Given the description of an element on the screen output the (x, y) to click on. 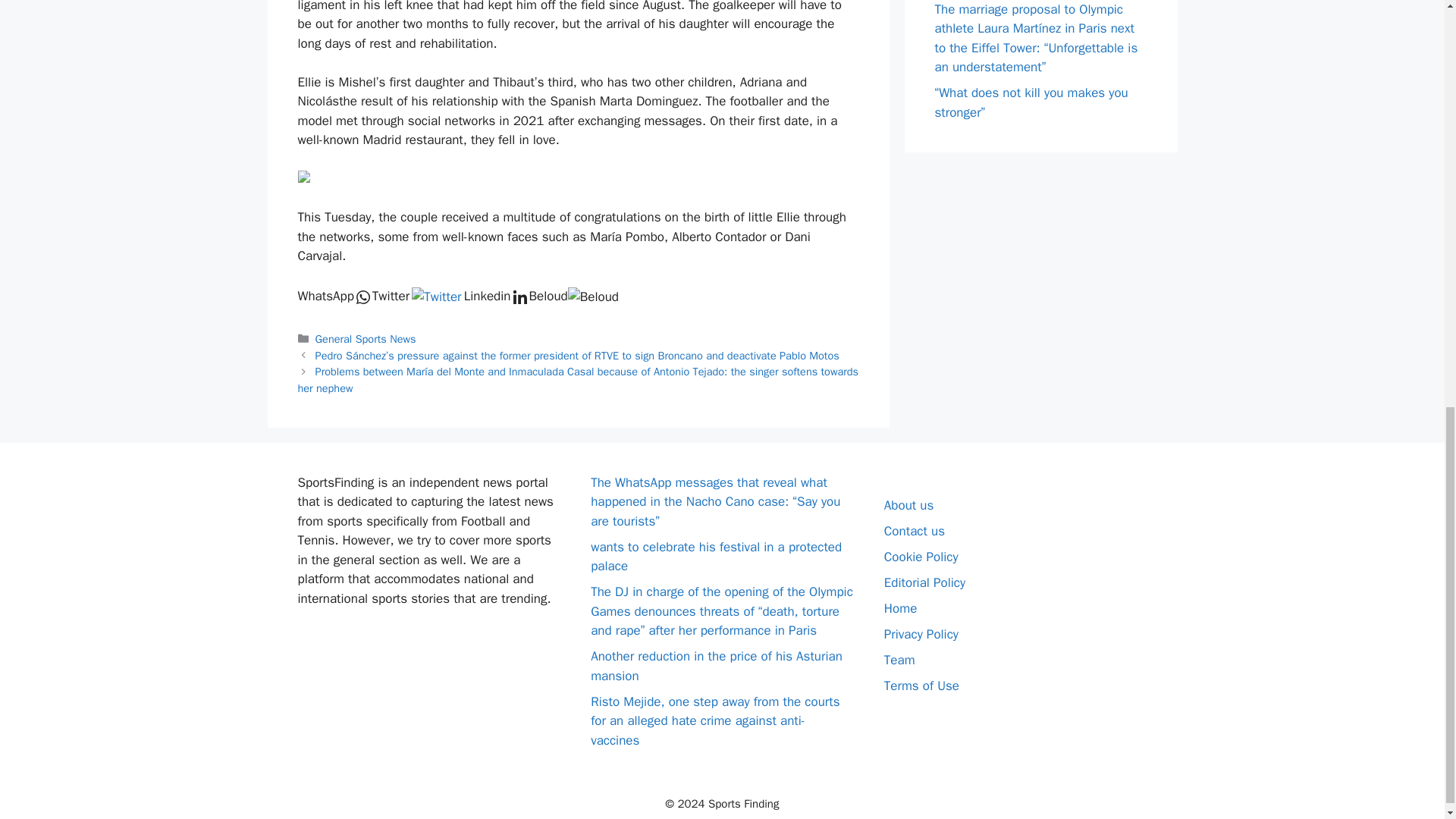
Cookie Policy (920, 556)
wants to celebrate his festival in a protected palace (716, 556)
General Sports News (365, 338)
Scroll back to top (1406, 720)
Contact us (913, 530)
About us (908, 505)
Editorial Policy (924, 582)
Another reduction in the price of his Asturian mansion (717, 665)
